Given the description of an element on the screen output the (x, y) to click on. 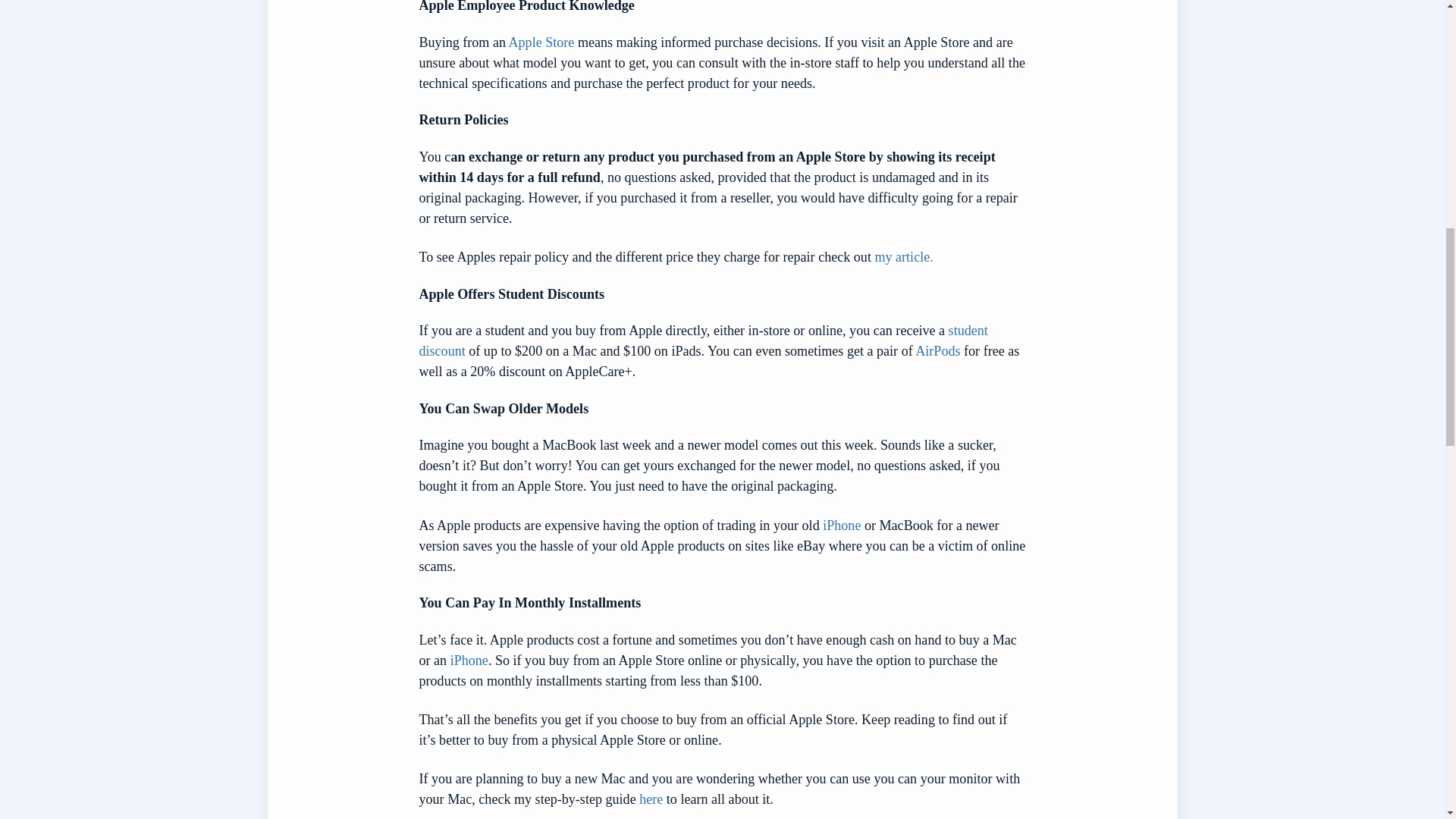
iPhone (841, 525)
student discount (703, 340)
AirPods (937, 350)
here (650, 798)
iPhone (468, 660)
iPhone (841, 525)
my article. (904, 256)
iPhone (468, 660)
Apple Store (541, 42)
